Given the description of an element on the screen output the (x, y) to click on. 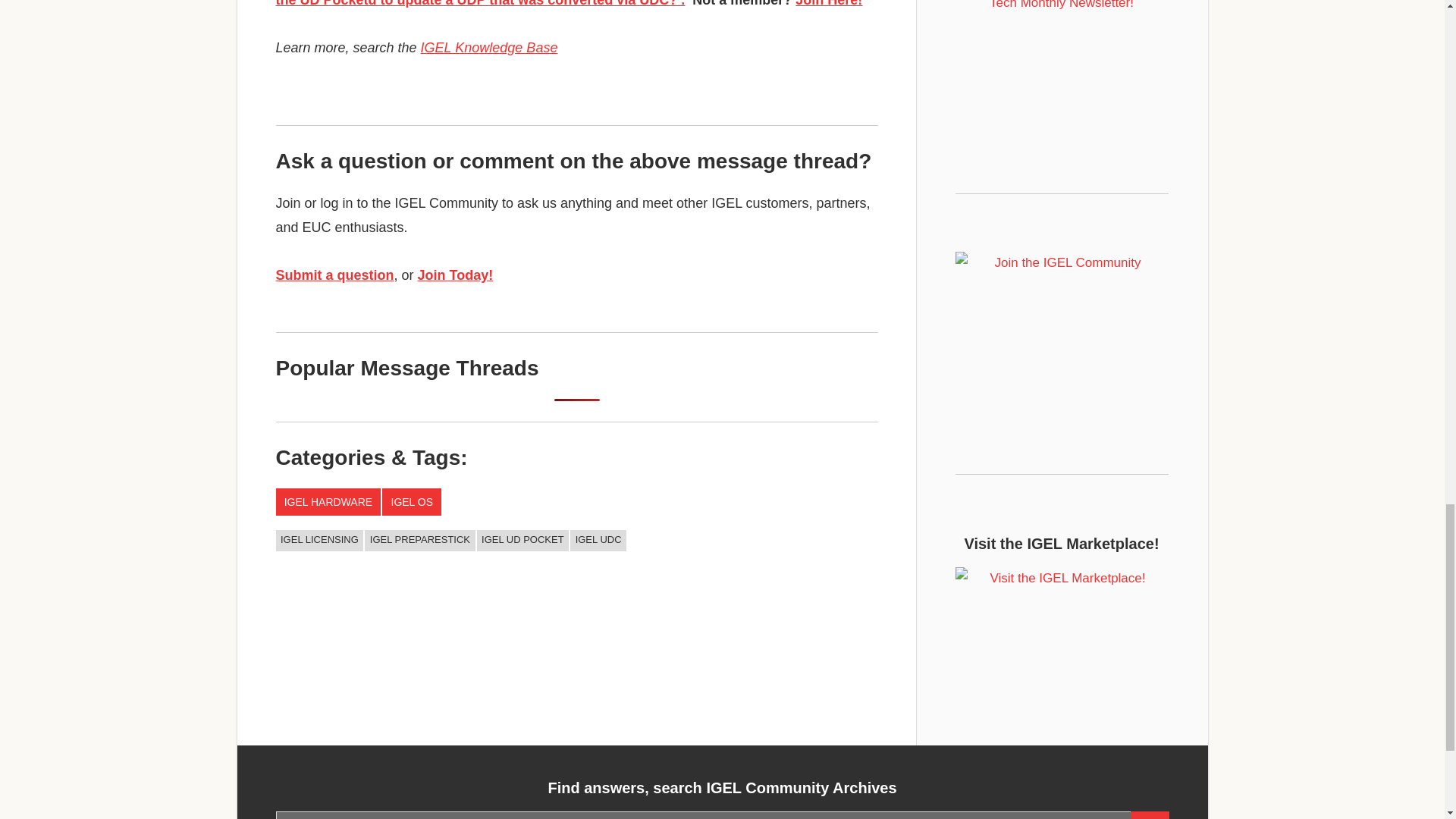
Subscribe to the Community Tech Monthly Newsletter (1062, 56)
Visit the IGEL Marketplace! (1062, 636)
